Given the description of an element on the screen output the (x, y) to click on. 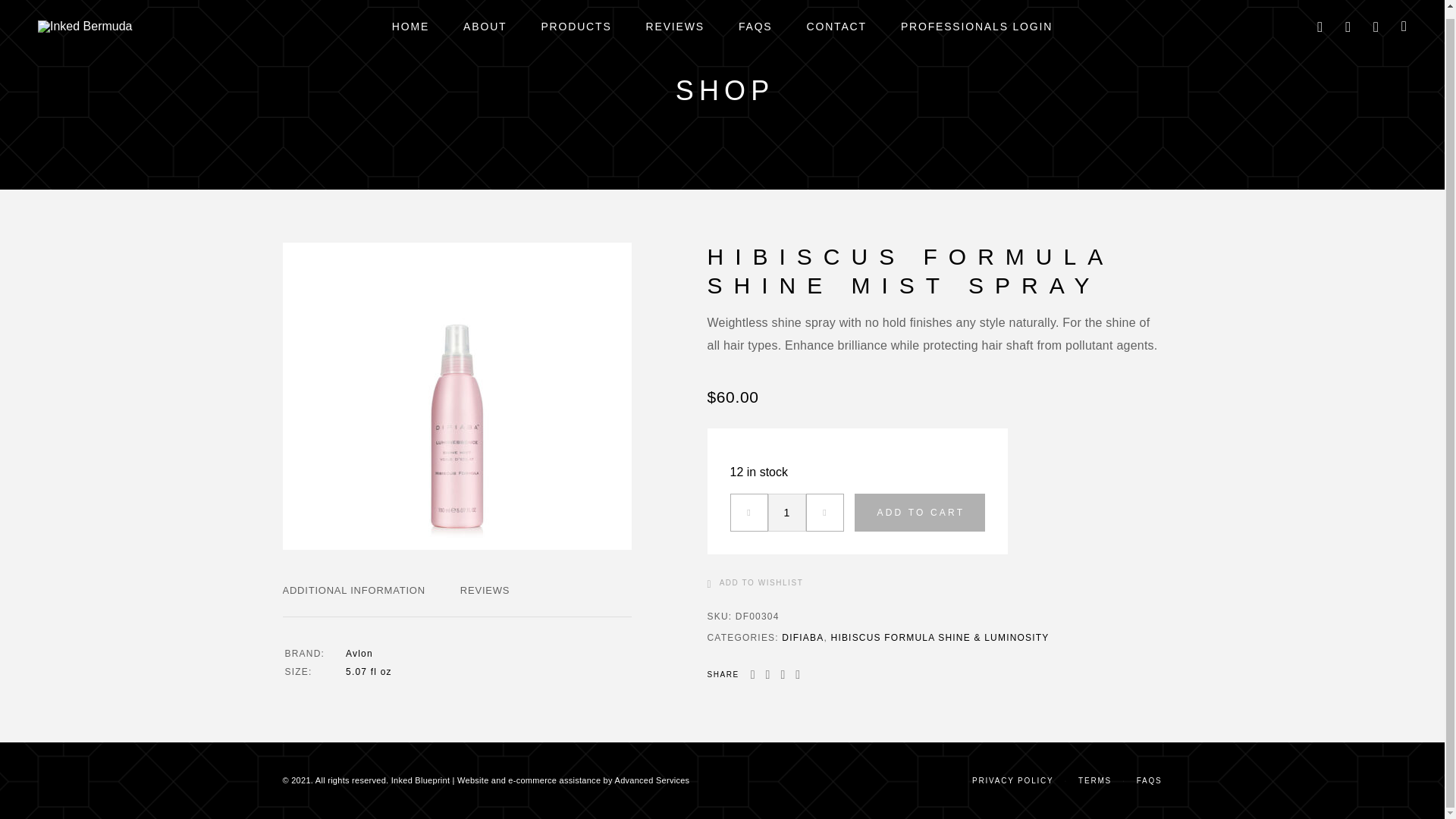
REVIEWS (484, 590)
1 (786, 512)
CONTACT (836, 26)
Avlon (359, 653)
HOME (410, 26)
ADDITIONAL INFORMATION (353, 590)
Qty (786, 512)
REVIEWS (675, 26)
PROFESSIONALS LOGIN (976, 26)
PRODUCTS (575, 26)
